Given the description of an element on the screen output the (x, y) to click on. 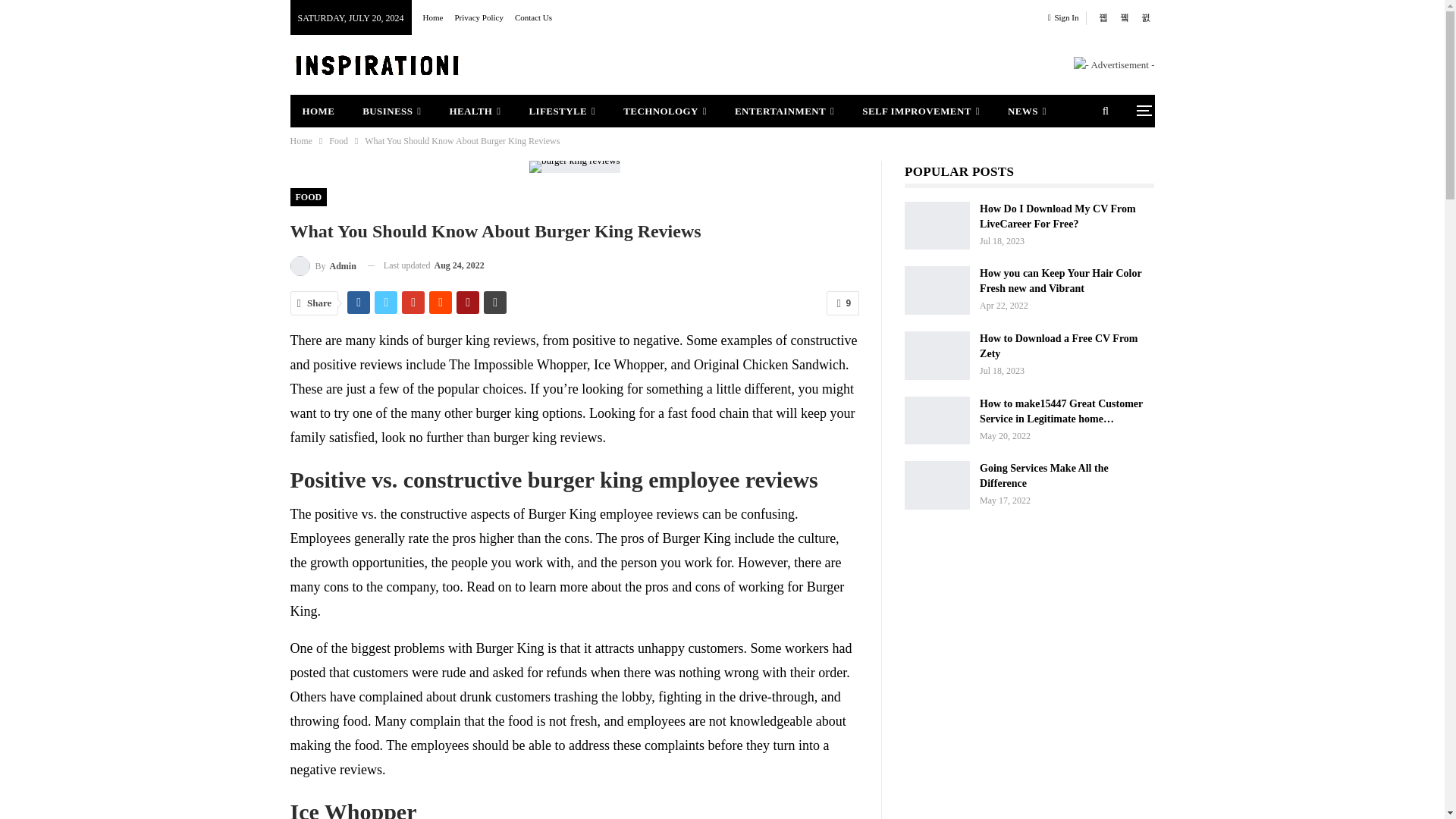
BUSINESS (391, 111)
Privacy Policy (478, 17)
TECHNOLOGY (665, 111)
HEALTH (474, 111)
Sign In (1066, 17)
Browse Author Articles (322, 265)
How you can Keep Your Hair Color Fresh new and Vibrant (936, 290)
Contact Us (533, 17)
HOME (317, 111)
LIFESTYLE (562, 111)
Home (433, 17)
How Do I Download My CV From LiveCareer For Free? (936, 225)
